Given the description of an element on the screen output the (x, y) to click on. 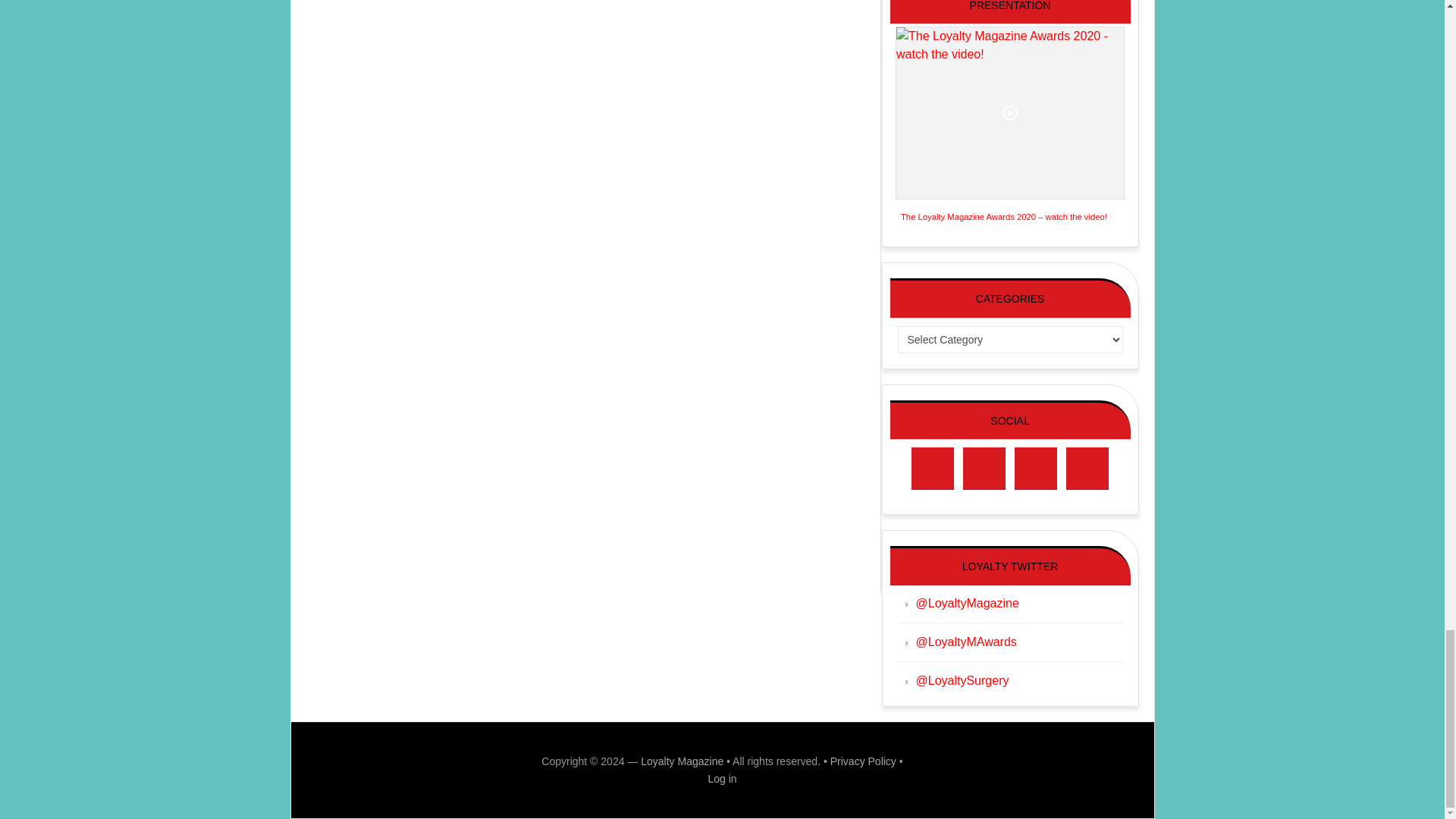
Loyalty Magazine (681, 761)
Privacy Policy (862, 761)
